Given the description of an element on the screen output the (x, y) to click on. 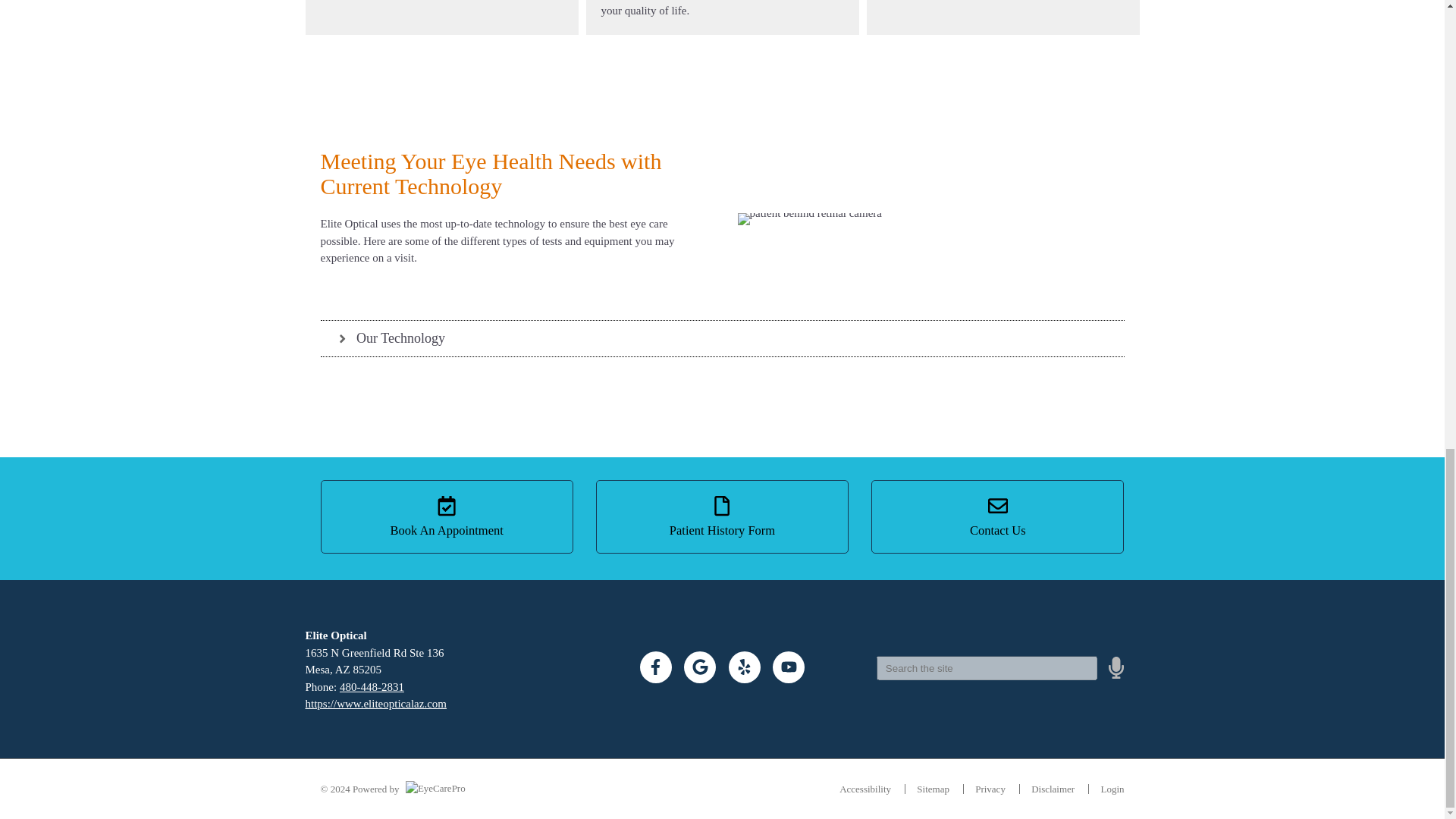
Speak Field (986, 668)
Accessibility (865, 788)
Patient History Form (721, 515)
Contact Us (997, 515)
Book An Appointment (446, 515)
480-448-2831 (371, 686)
Sitemap (933, 788)
